Given the description of an element on the screen output the (x, y) to click on. 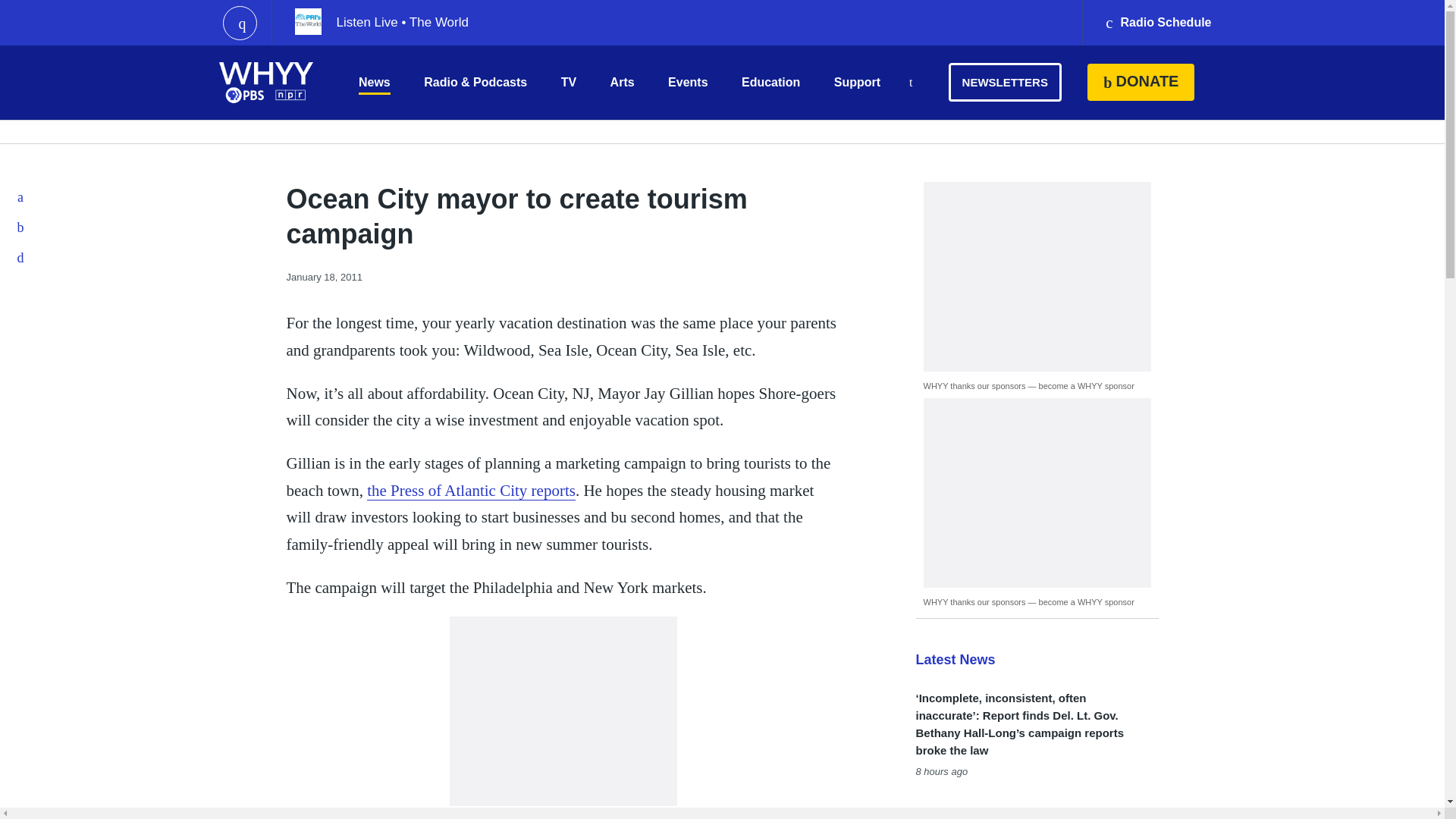
3rd party ad content (1037, 276)
3rd party ad content (1037, 493)
Twitter (21, 227)
Twitter (21, 227)
WHYY (266, 82)
Search (910, 83)
3rd party ad content (562, 710)
Email (21, 257)
Facebook (21, 196)
Radio Schedule (1157, 22)
Facebook (21, 196)
Email (21, 257)
Gabrielle Giffords stumps for Kamala Harris in Philadelphia (1016, 812)
